Given the description of an element on the screen output the (x, y) to click on. 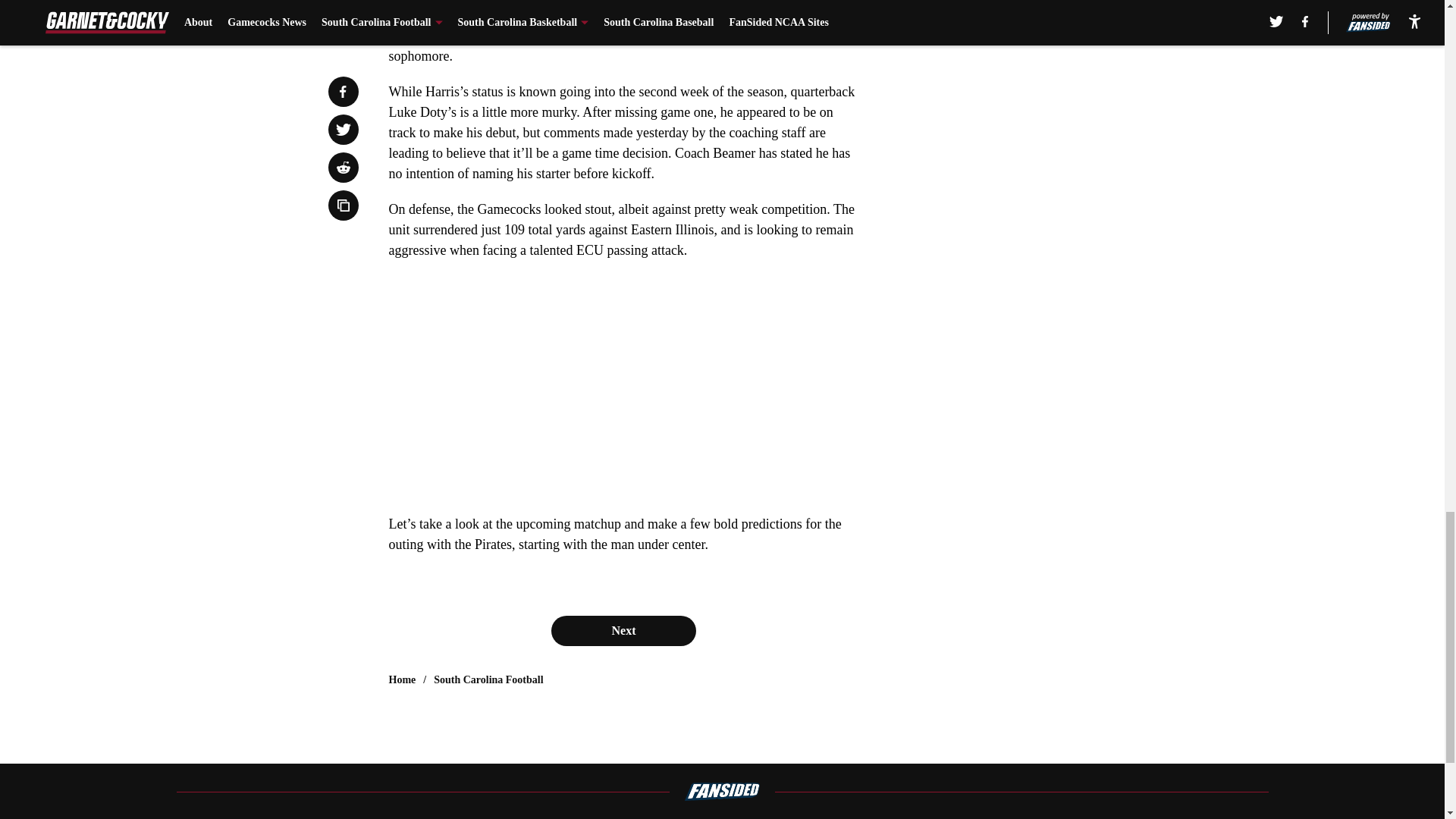
Next (622, 630)
South Carolina Football (488, 679)
Contact (861, 817)
About (370, 817)
Openings (724, 817)
Home (401, 679)
Masthead (535, 817)
